Given the description of an element on the screen output the (x, y) to click on. 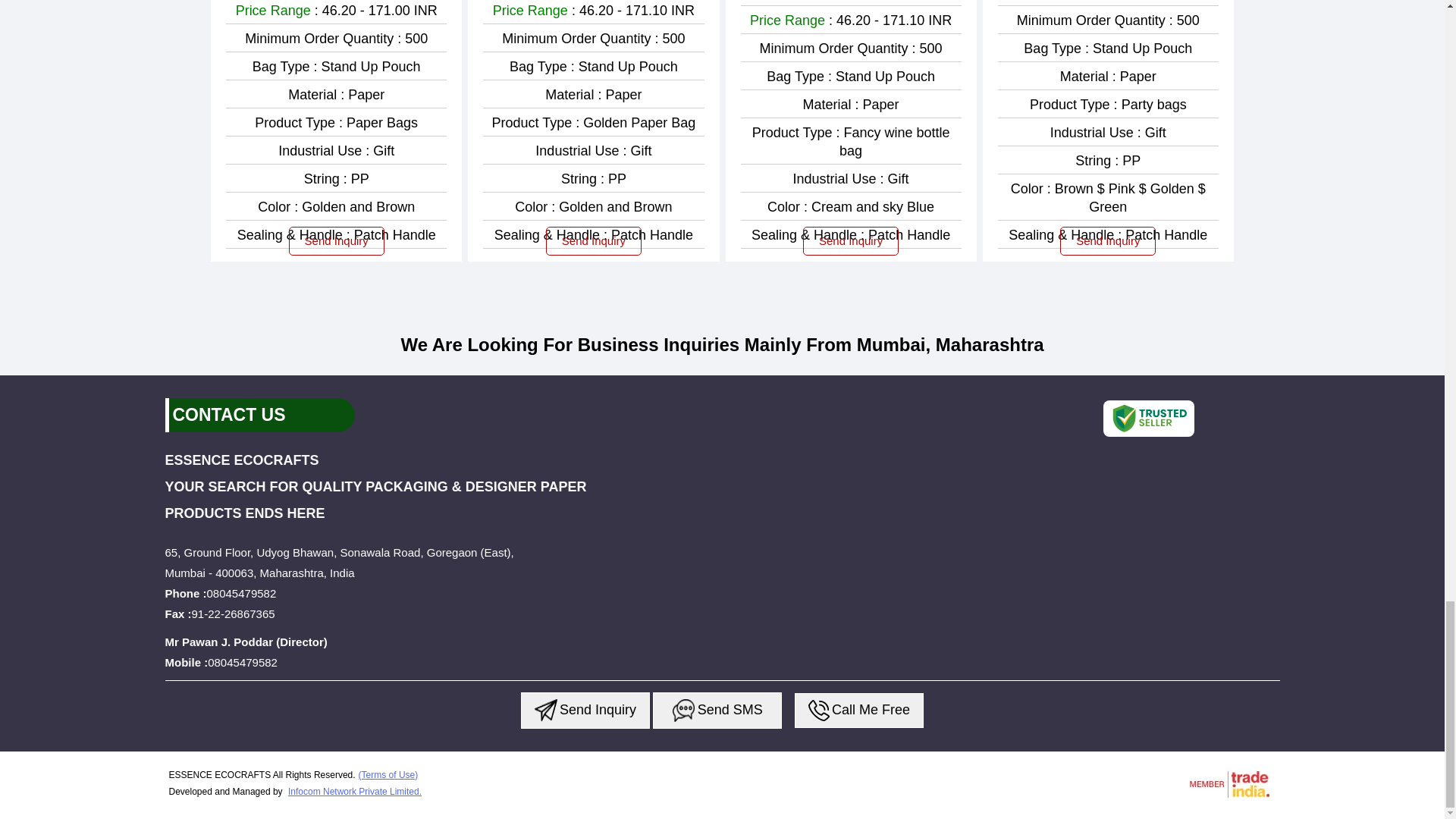
Send Inquiry (818, 710)
Send Inquiry (683, 710)
Send Inquiry (545, 710)
